Given the description of an element on the screen output the (x, y) to click on. 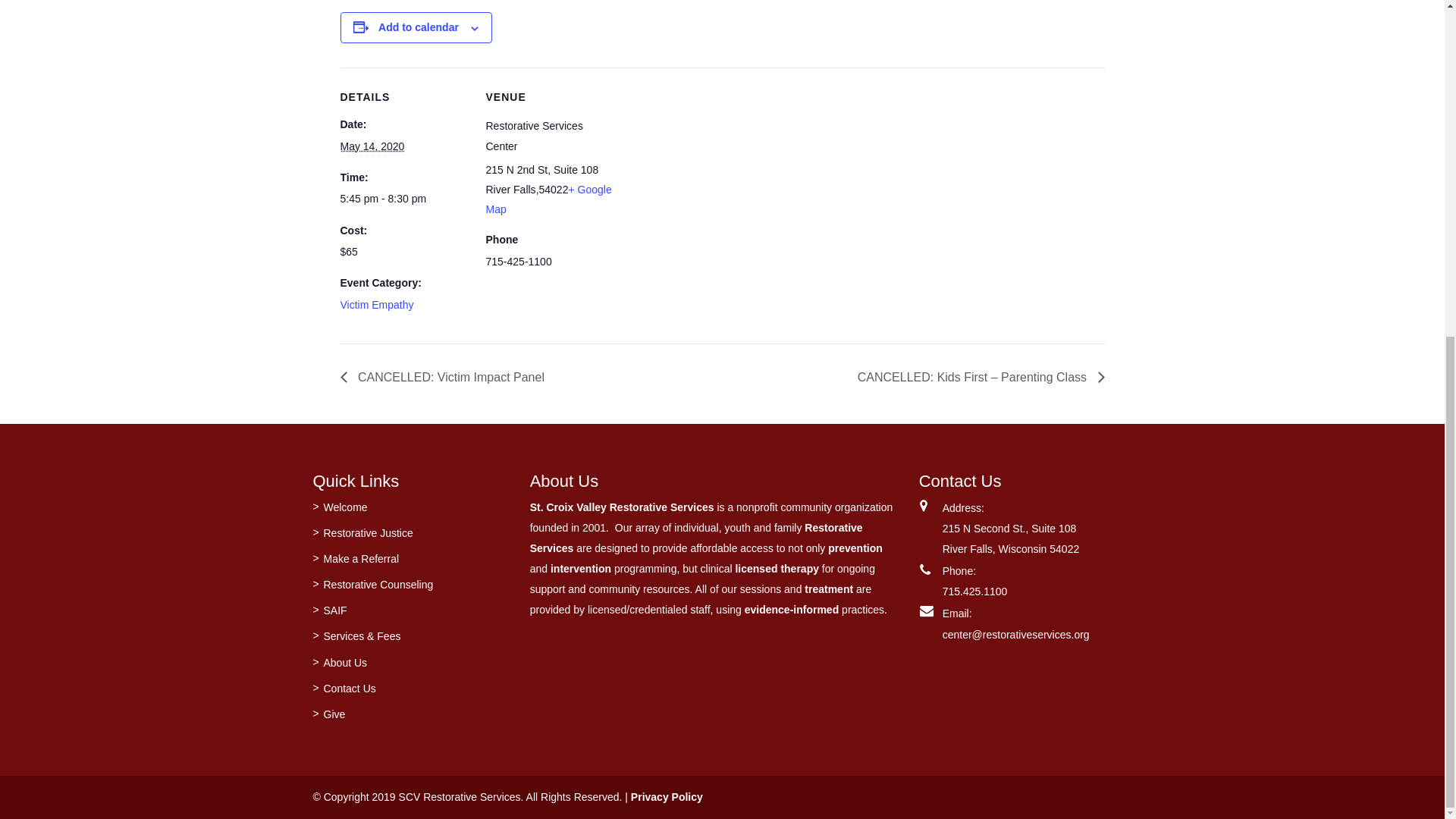
CANCELLED: Victim Impact Panel (445, 377)
2020-05-14 (371, 146)
SAIF (334, 610)
Restorative Counseling (377, 584)
Click to view a Google Map (547, 199)
Welcome (344, 507)
Victim Empathy (376, 304)
Make a Referral (360, 558)
Restorative Justice (367, 532)
